Given the description of an element on the screen output the (x, y) to click on. 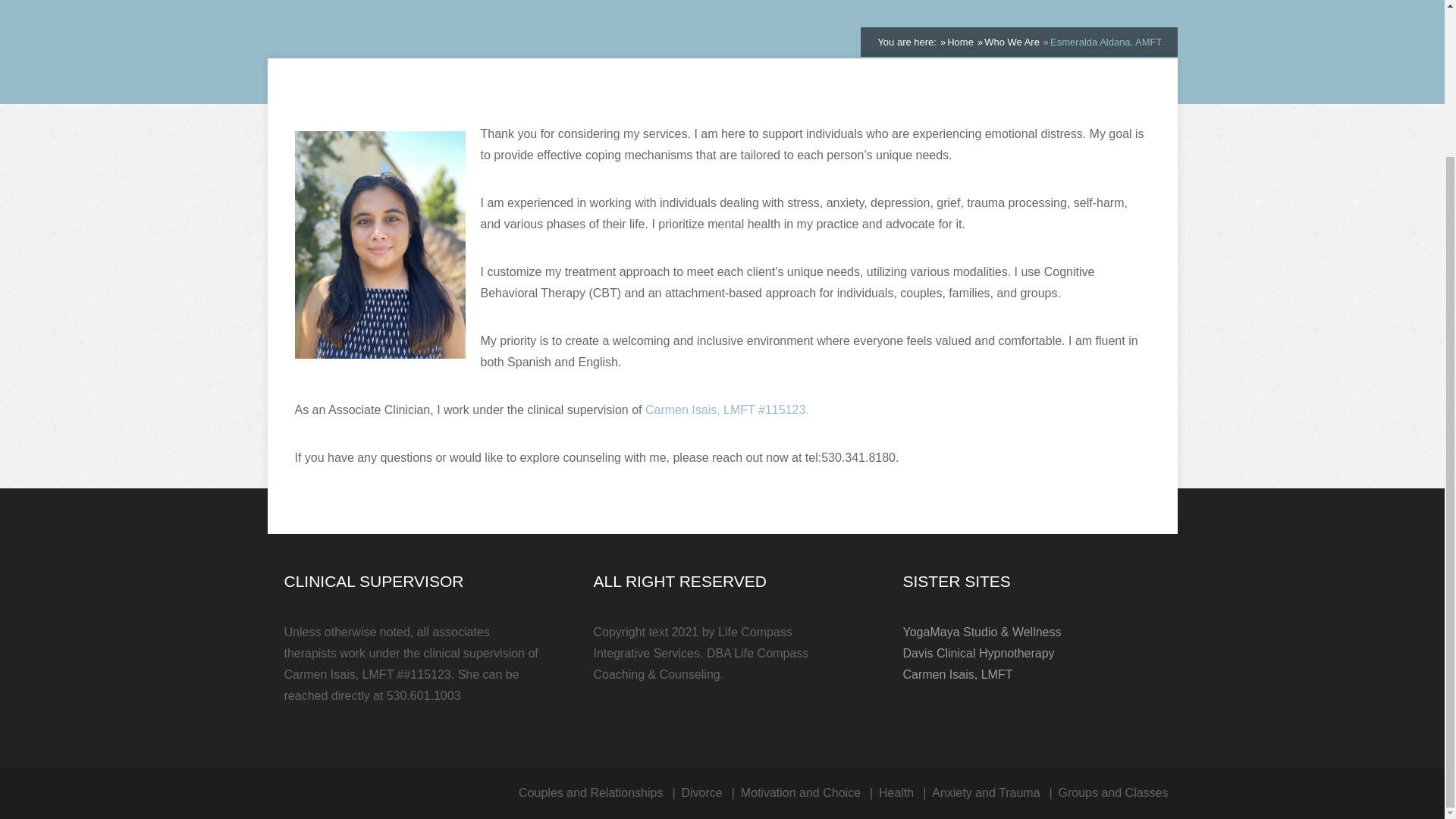
Davis Clinical Hypnotherapy (978, 653)
Who We Are (1011, 41)
Home (960, 41)
